Given the description of an element on the screen output the (x, y) to click on. 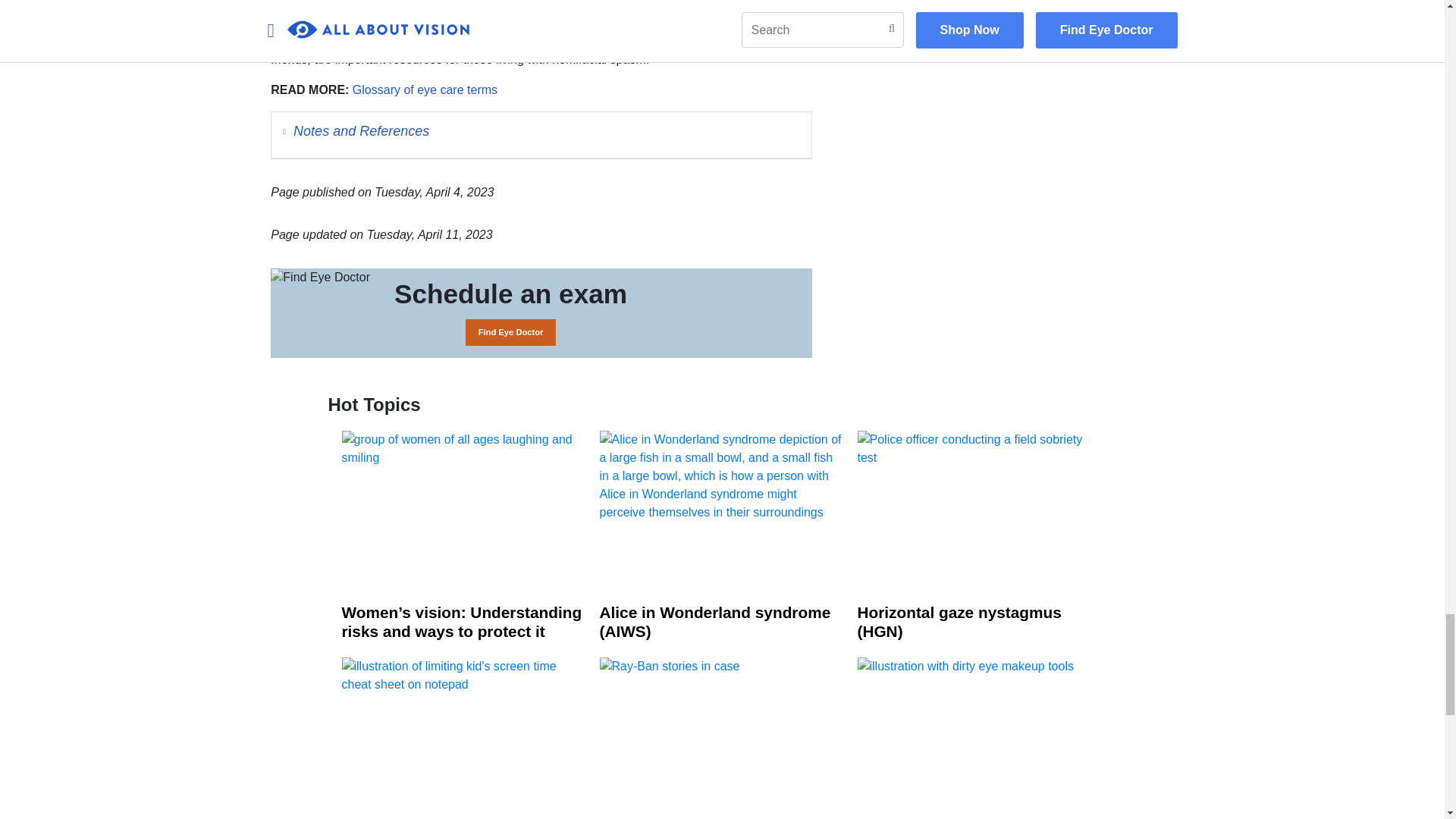
Glossary of eye care terms (424, 89)
